Given the description of an element on the screen output the (x, y) to click on. 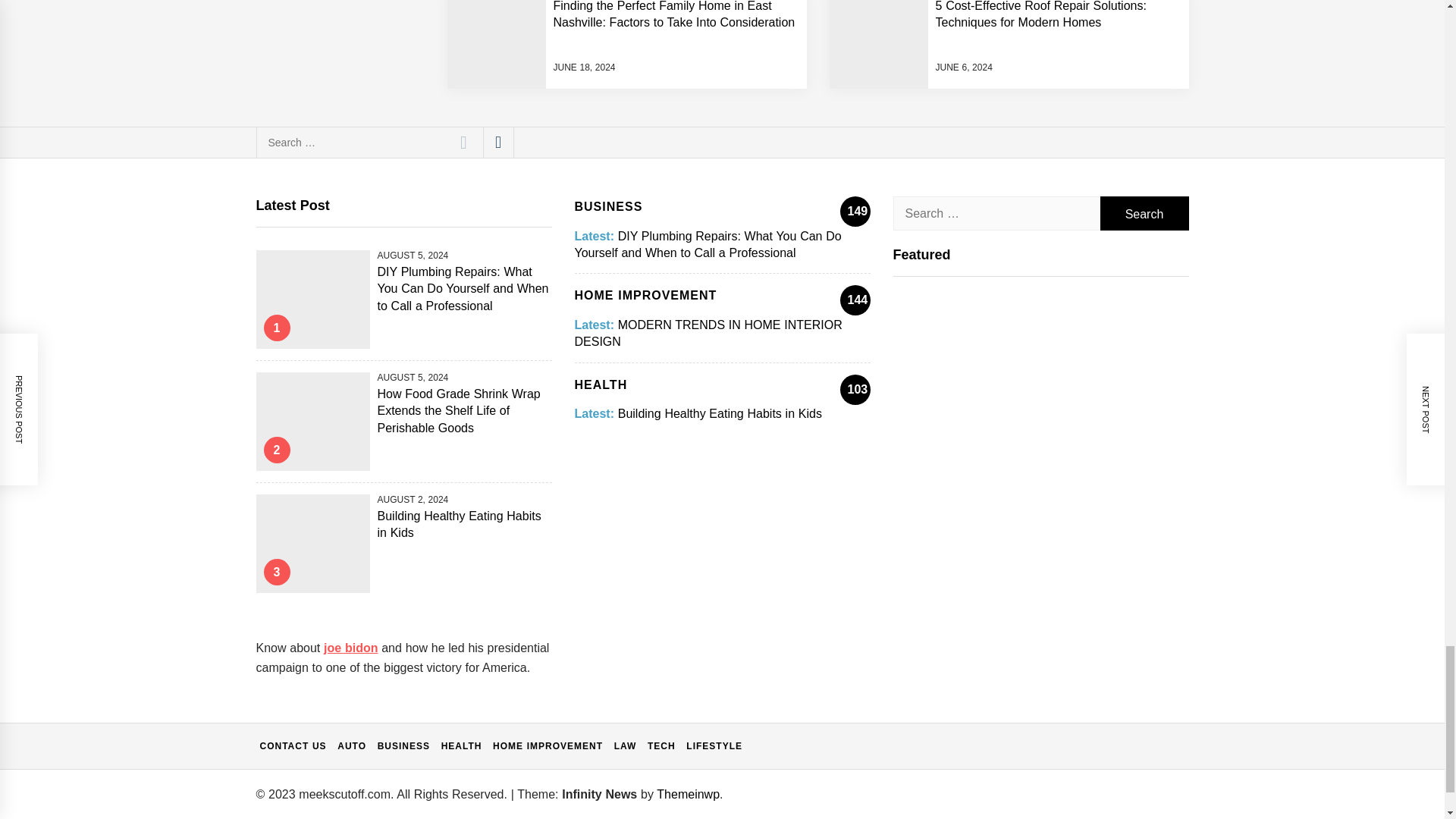
Search (1143, 213)
Search (1143, 213)
Search (462, 142)
Search (462, 142)
